Given the description of an element on the screen output the (x, y) to click on. 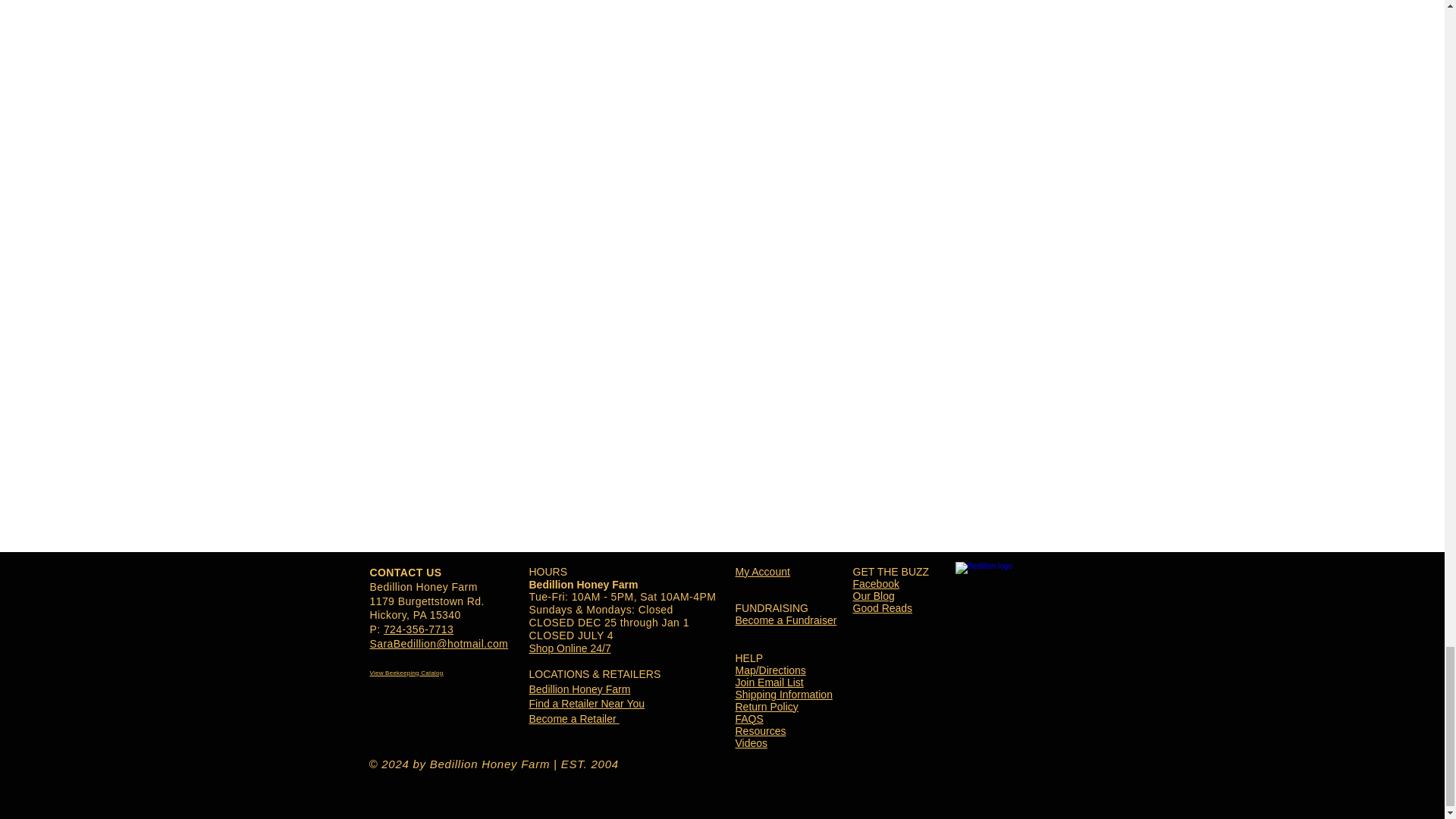
724-356-7713 (418, 629)
BedillionLogoTransparentedit4.jpg (1016, 620)
